Given the description of an element on the screen output the (x, y) to click on. 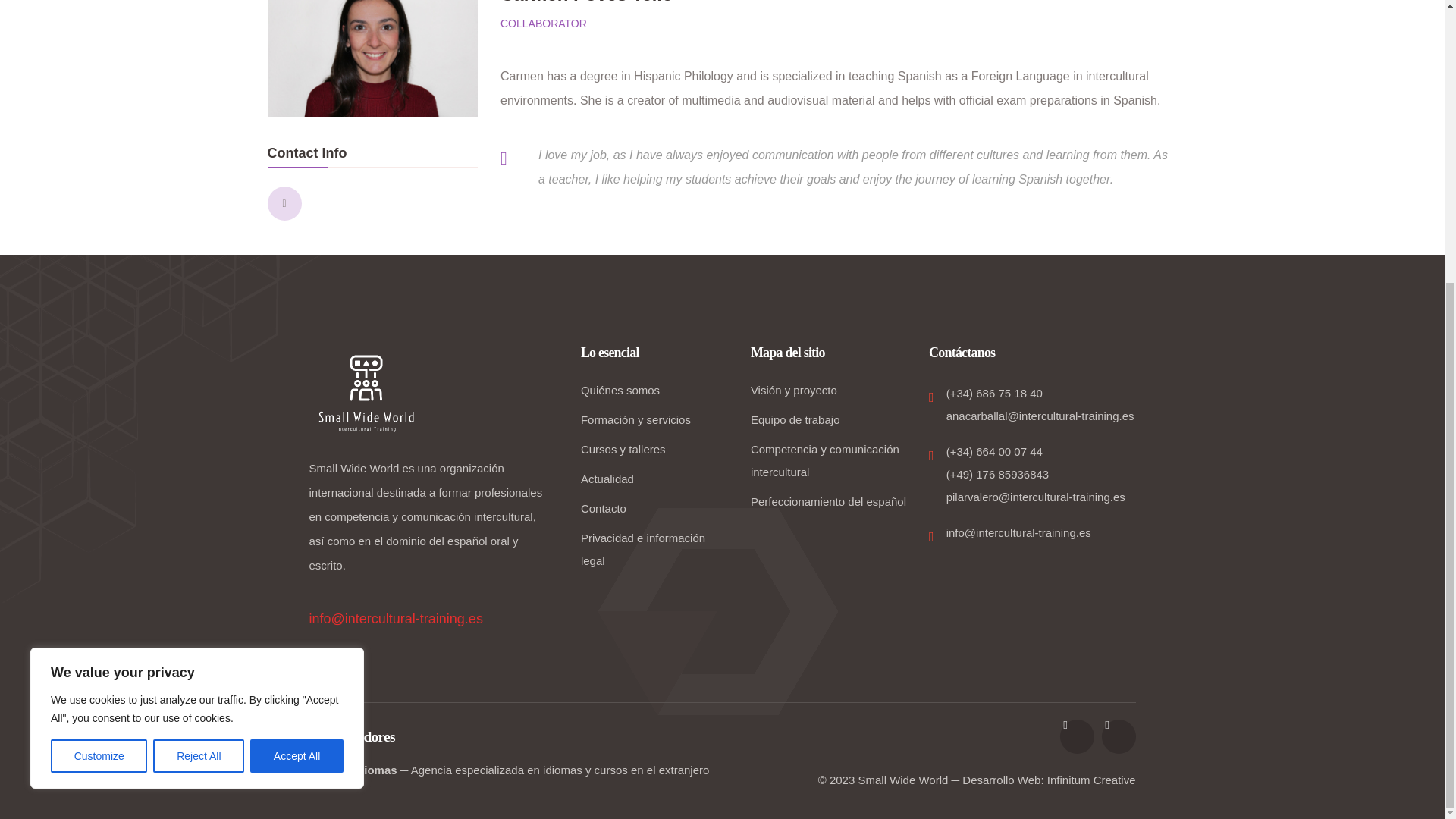
Reject All (198, 332)
Customize (98, 332)
Accept All (296, 332)
Inicio (365, 393)
